Given the description of an element on the screen output the (x, y) to click on. 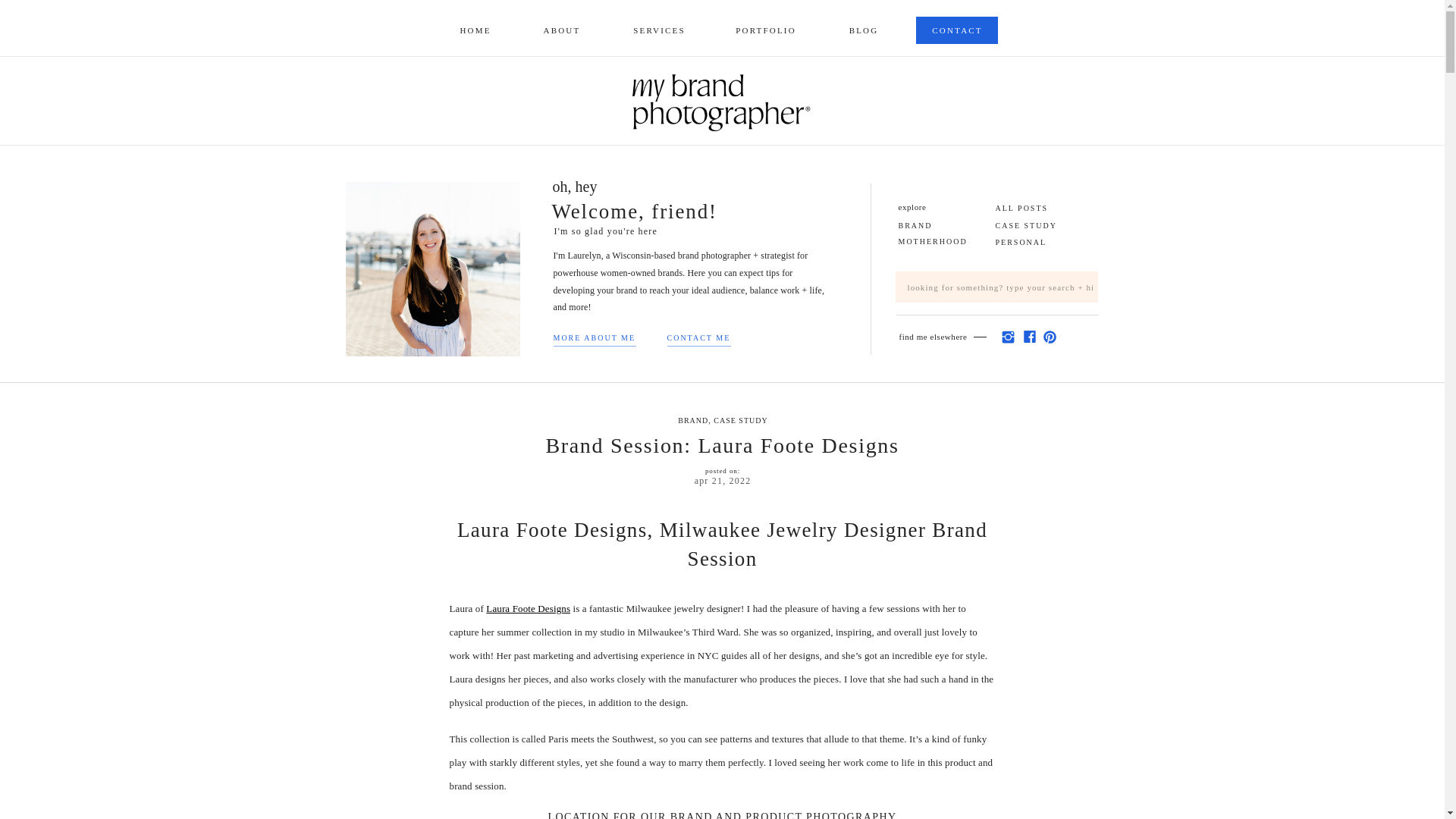
ABOUT (562, 29)
CONTACT ME (700, 335)
BRAND (692, 420)
MORE ABOUT ME (597, 335)
Facebook Copy-color Created with Sketch. (1028, 336)
PERSONAL (1045, 239)
CONTACT (956, 29)
HOME (474, 29)
Laura Foote Designs (528, 608)
MOTHERHOOD (942, 238)
